Given the description of an element on the screen output the (x, y) to click on. 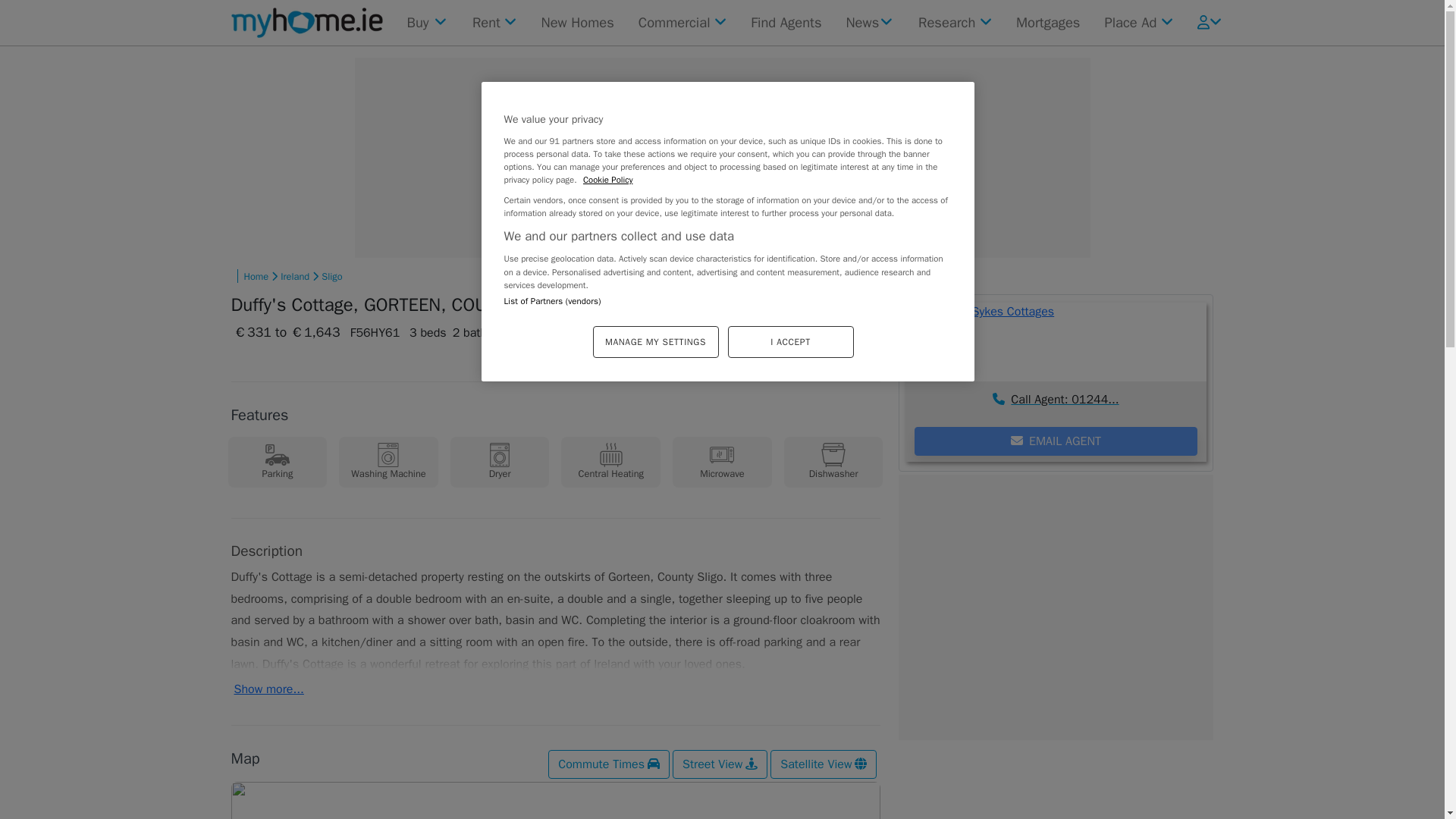
New Homes (577, 22)
Rent (493, 22)
Buy (426, 22)
